Given the description of an element on the screen output the (x, y) to click on. 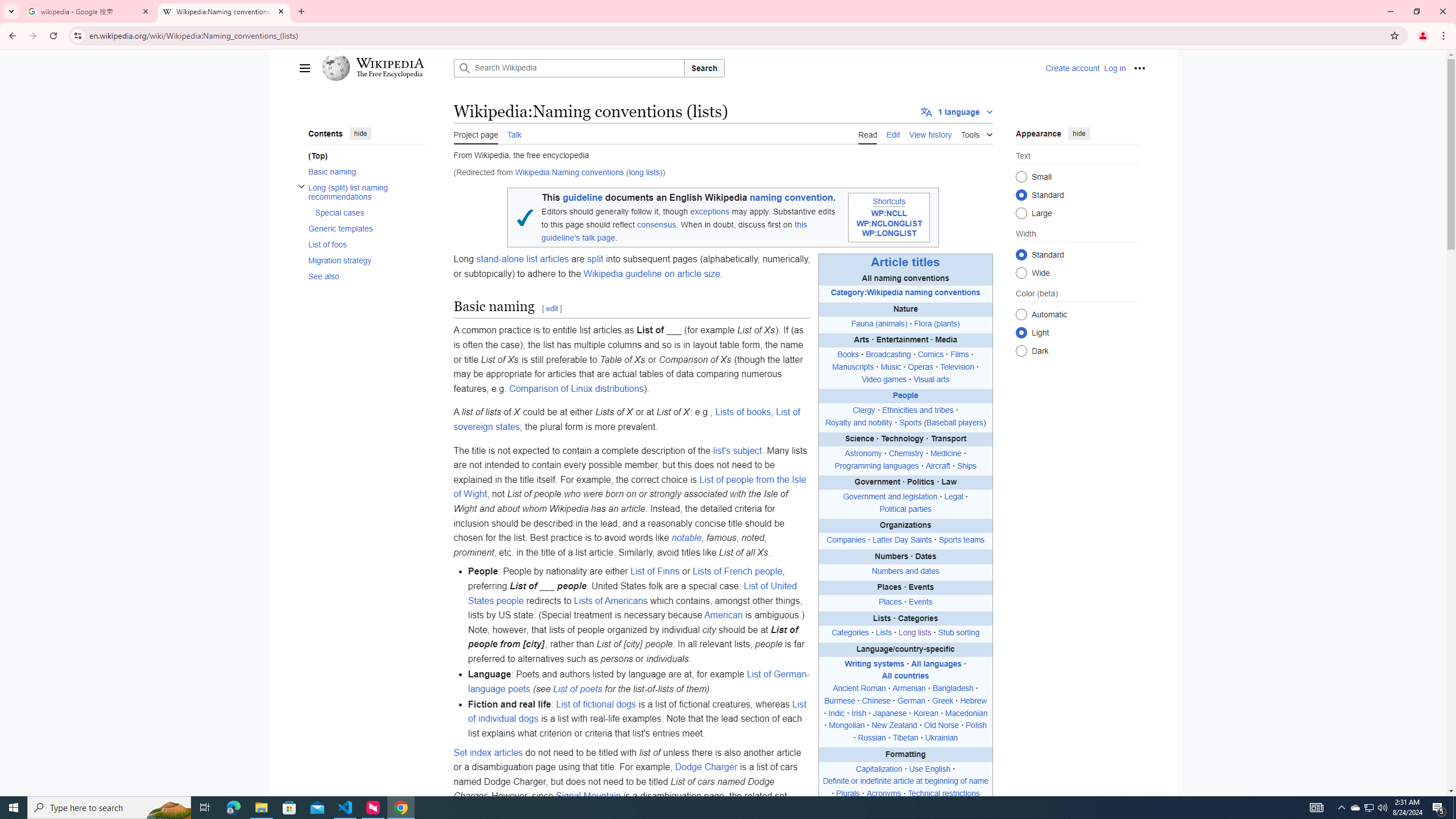
Latter Day Saints (901, 539)
Stub sorting (958, 632)
People (905, 395)
Places (889, 601)
Bangladesh (952, 688)
AutomationID: pt-createaccount-2 (1072, 67)
Edit (892, 133)
New Zealand (893, 725)
consensus (657, 225)
Writing systems (874, 663)
Aircraft (938, 465)
Tibetan (905, 737)
List of sovereign states (626, 419)
